Given the description of an element on the screen output the (x, y) to click on. 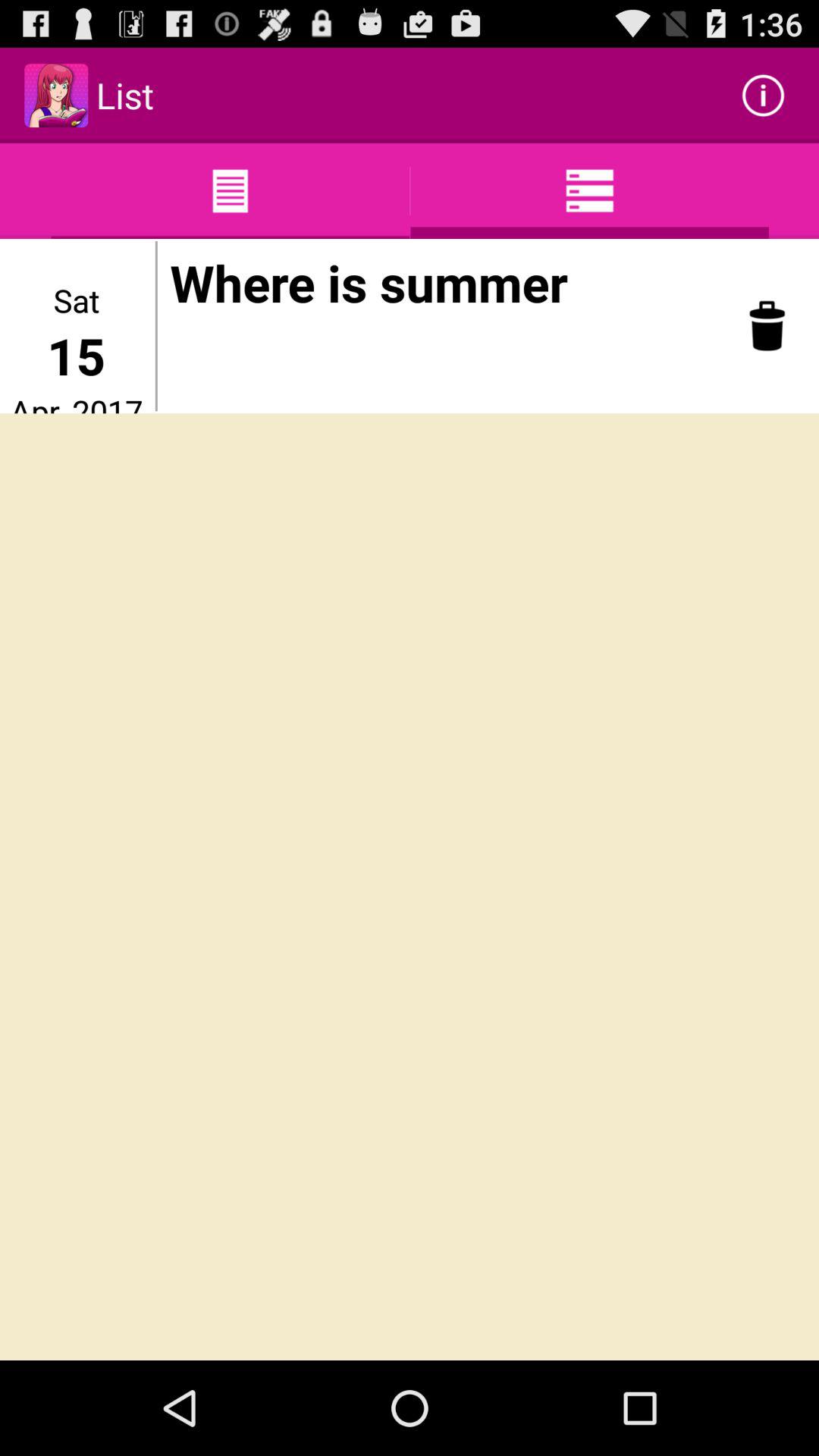
scroll to the 15 icon (76, 355)
